Given the description of an element on the screen output the (x, y) to click on. 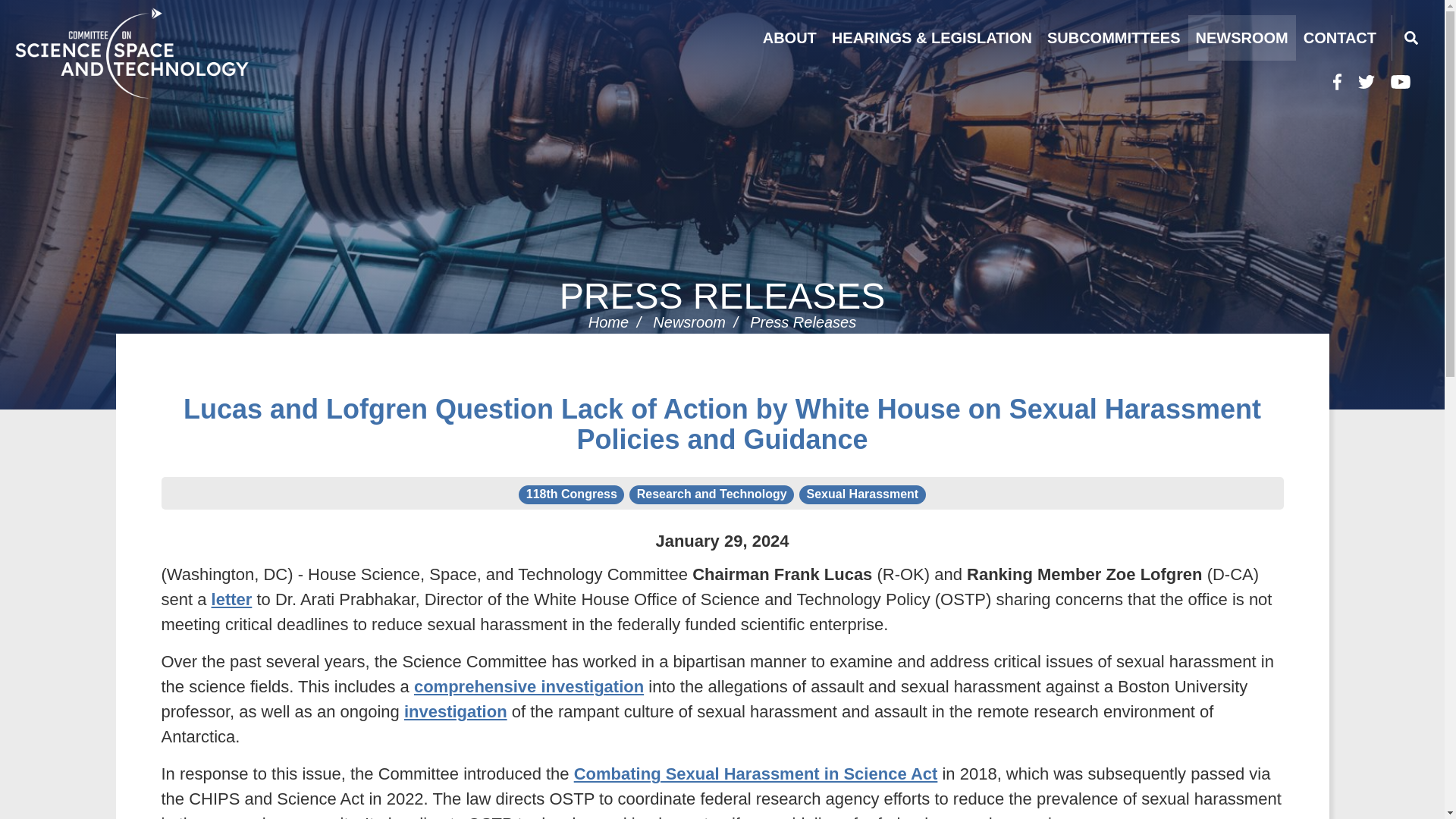
ABOUT (789, 37)
Home (170, 52)
CONTACT (1339, 37)
NEWSROOM (1241, 37)
SUBCOMMITTEES (1113, 37)
